Given the description of an element on the screen output the (x, y) to click on. 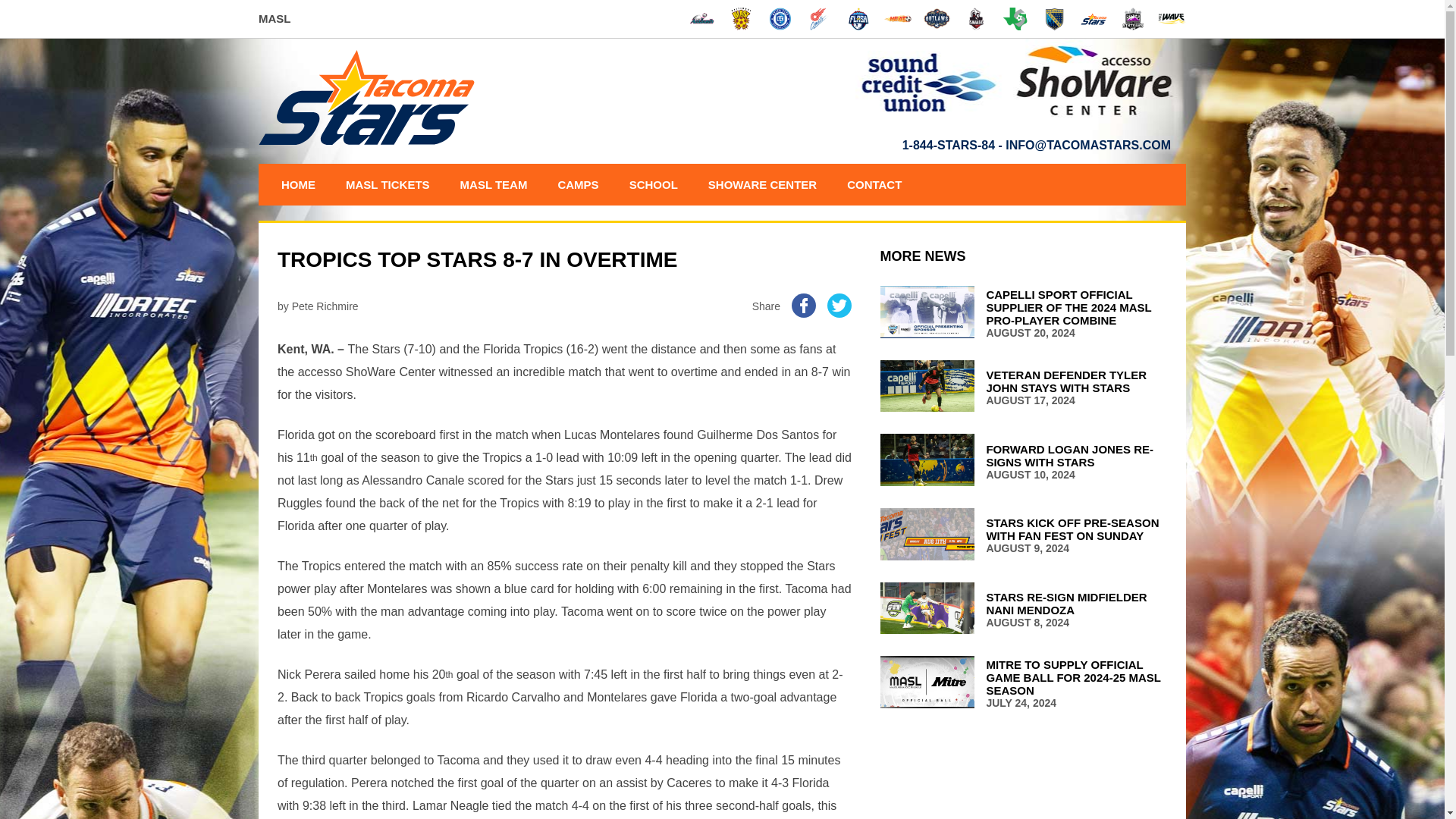
CONTACT (873, 184)
CAMPS (578, 184)
MASL (275, 18)
HOME (297, 184)
SCHOOL (652, 184)
